Given the description of an element on the screen output the (x, y) to click on. 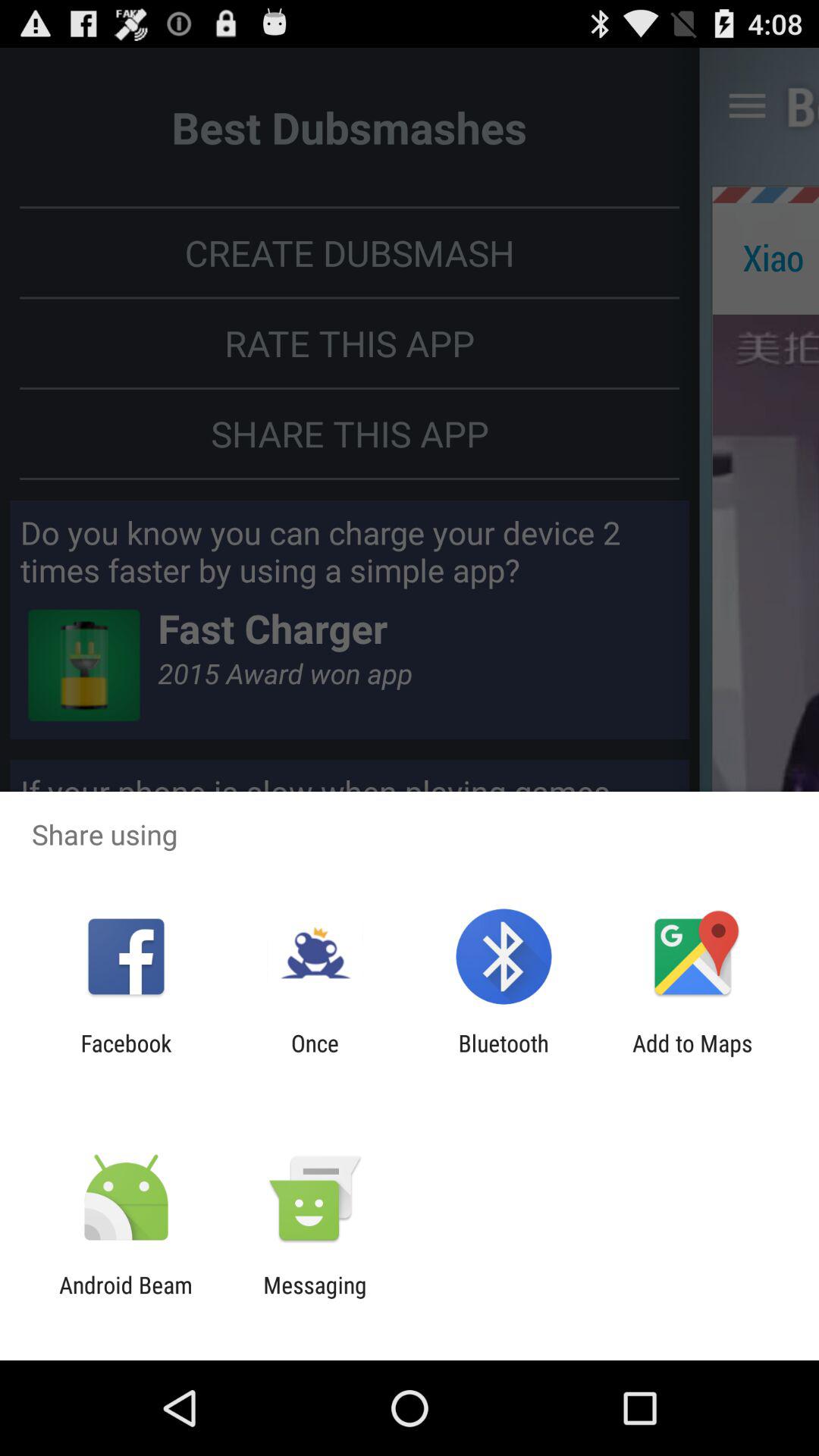
scroll to once item (314, 1056)
